Given the description of an element on the screen output the (x, y) to click on. 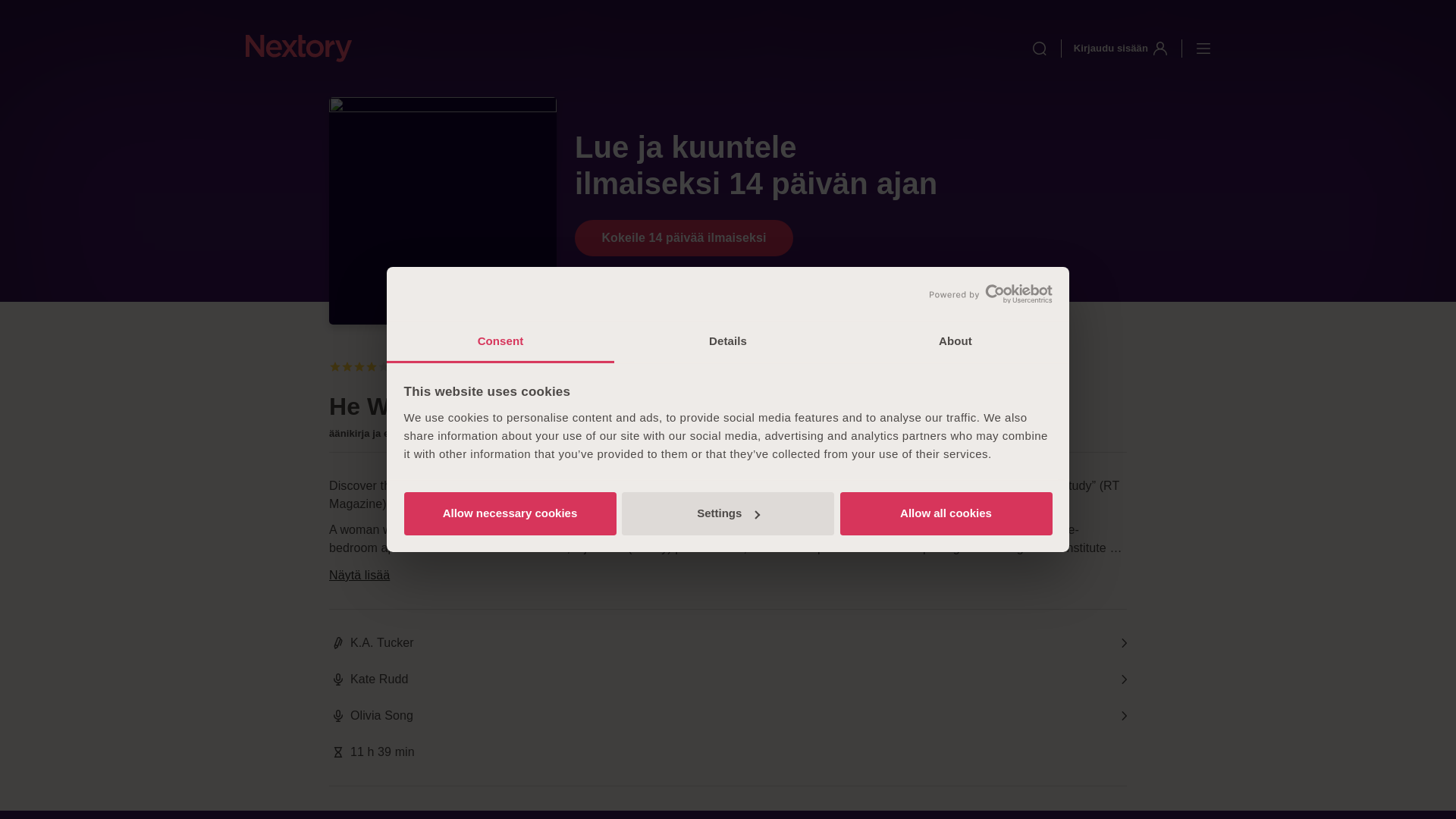
Consent (500, 342)
About (954, 342)
Details (727, 342)
